Given the description of an element on the screen output the (x, y) to click on. 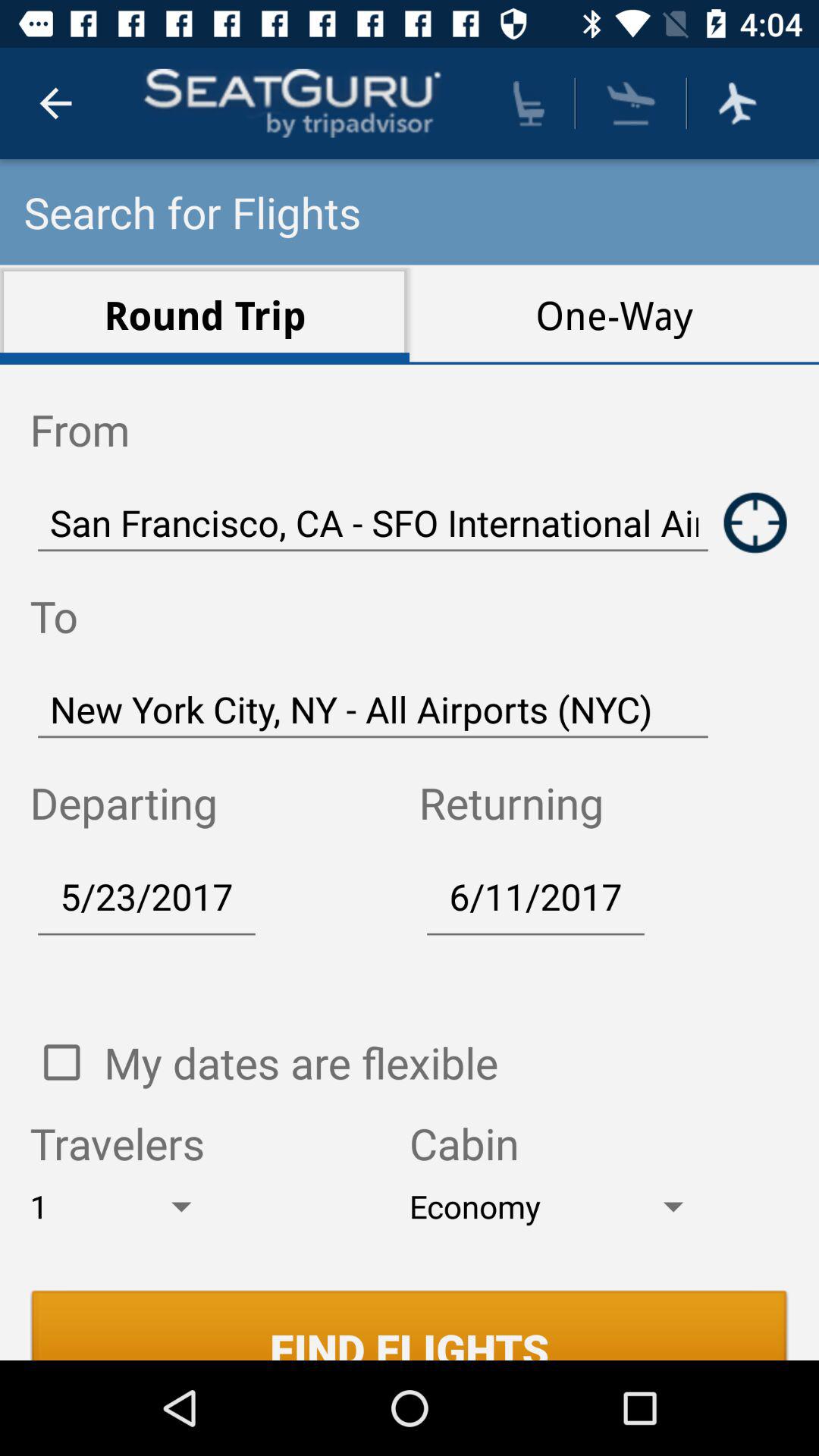
enable my dates are flexible (61, 1062)
